Given the description of an element on the screen output the (x, y) to click on. 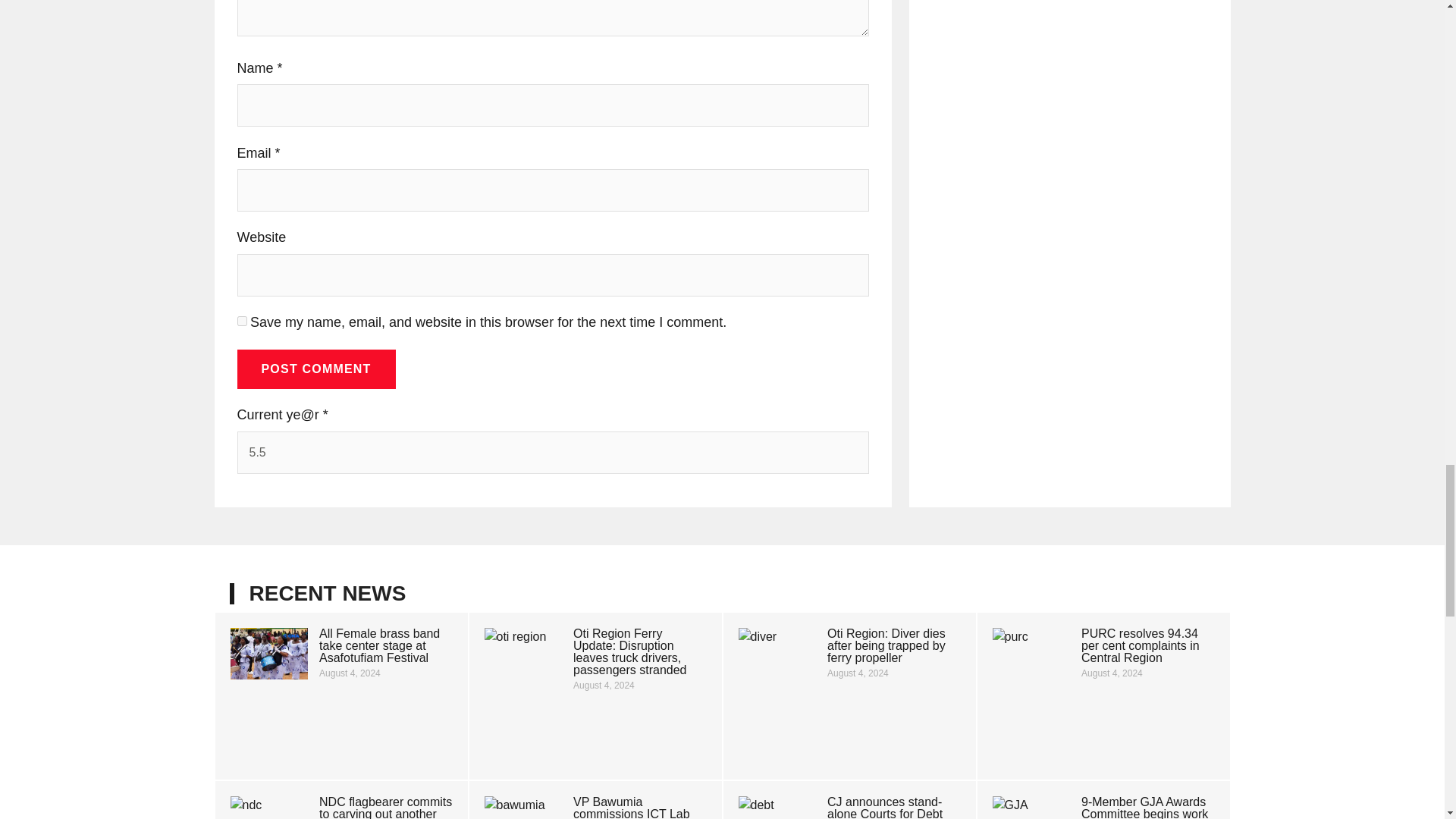
5.5 (551, 452)
yes (240, 320)
Post Comment (314, 369)
